Given the description of an element on the screen output the (x, y) to click on. 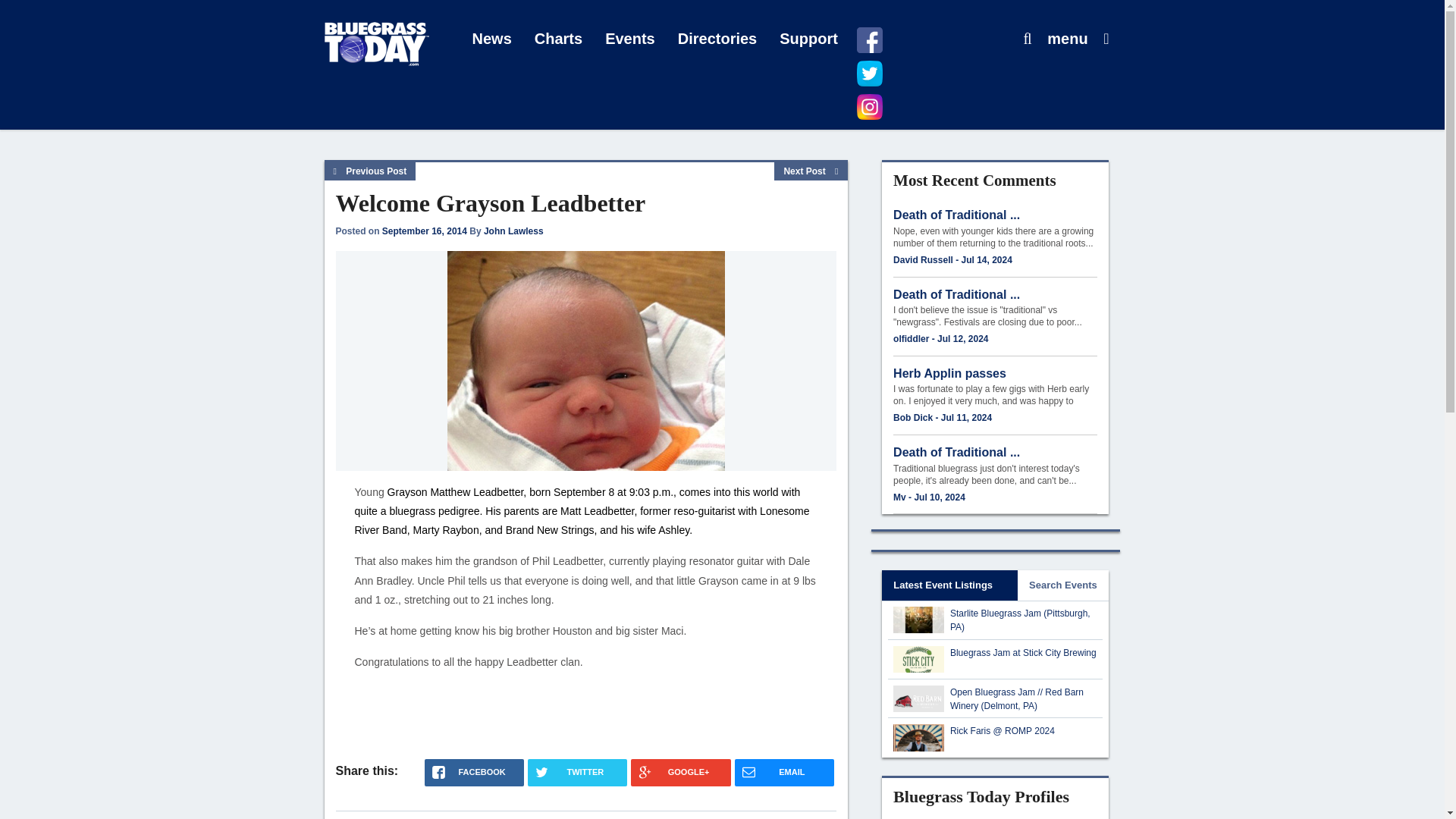
EMAIL (784, 772)
John Lawless (513, 231)
TWITTER (577, 772)
September 16, 2014 (424, 231)
Support (808, 39)
Events (630, 39)
FACEBOOK (474, 772)
menu (1066, 39)
Previous Post (370, 171)
Directories (717, 39)
News (491, 39)
Next Post (810, 171)
Charts (558, 39)
